Given the description of an element on the screen output the (x, y) to click on. 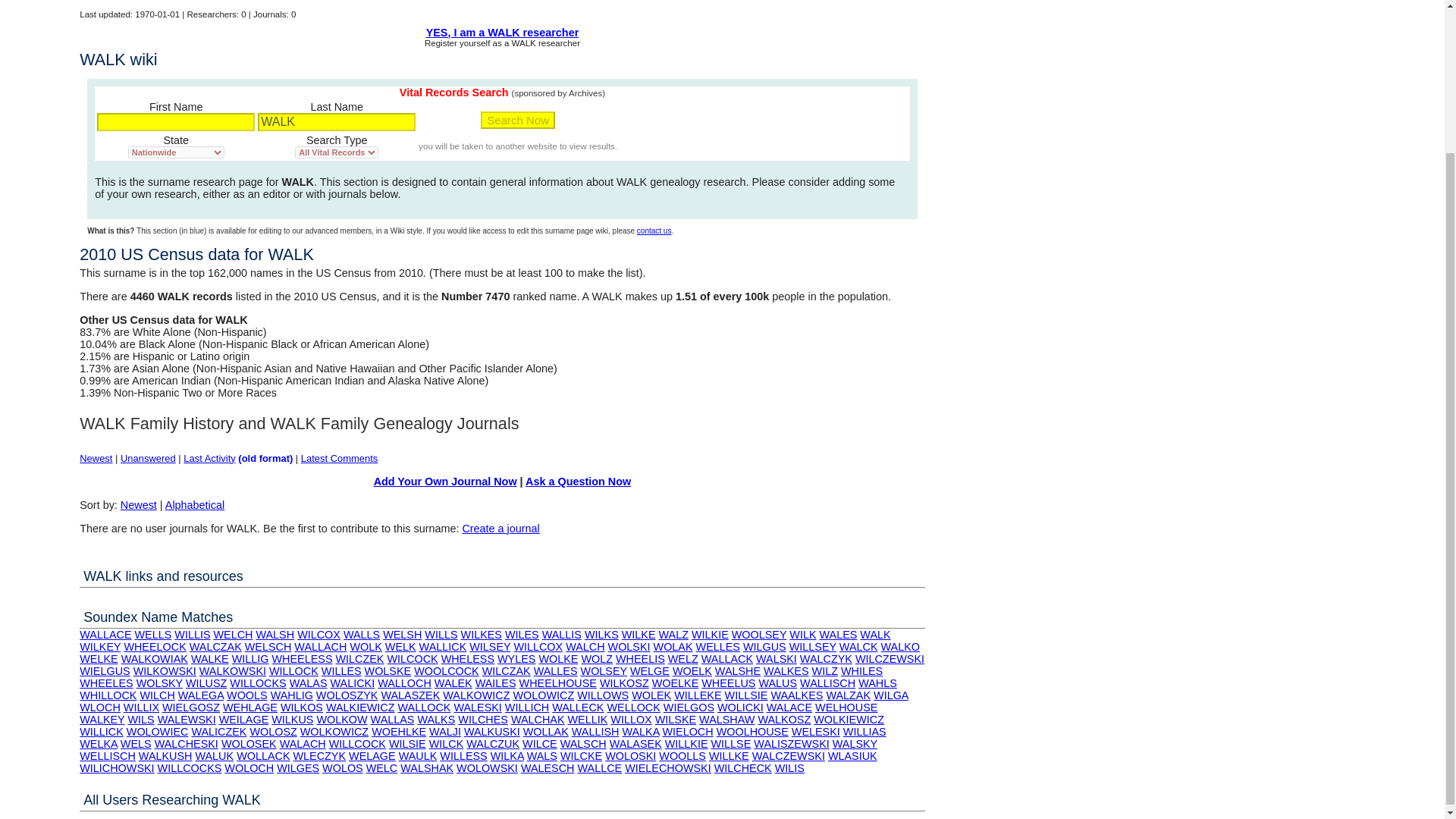
WALLACE (105, 634)
Latest Comments (339, 458)
Create a journal (499, 528)
Alphabetical (194, 504)
Last Activity (208, 458)
WELLS (153, 634)
Add Your Own Journal Now (445, 481)
WELCH (231, 634)
WILCOX (318, 634)
Search Now (517, 119)
